Given the description of an element on the screen output the (x, y) to click on. 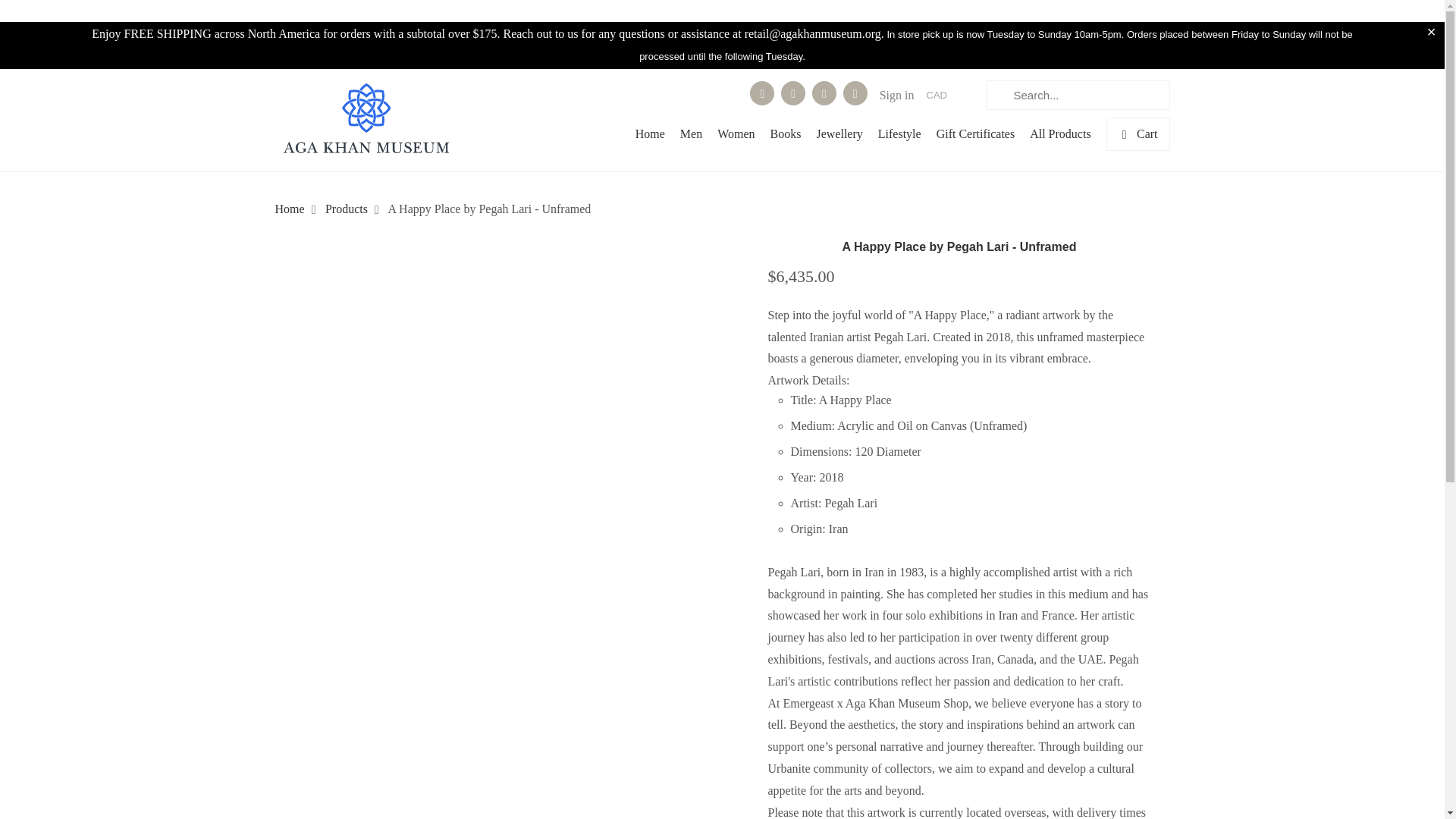
Men (690, 137)
Products (346, 208)
Email Aga Khan Museum Shop (855, 93)
Aga Khan Museum Shop on Twitter (761, 93)
Aga Khan Museum Shop (365, 119)
Aga Khan Museum Shop on Facebook (792, 93)
All Products (1059, 137)
Gift Certificates (975, 137)
Sign in (896, 95)
Books (786, 137)
